Given the description of an element on the screen output the (x, y) to click on. 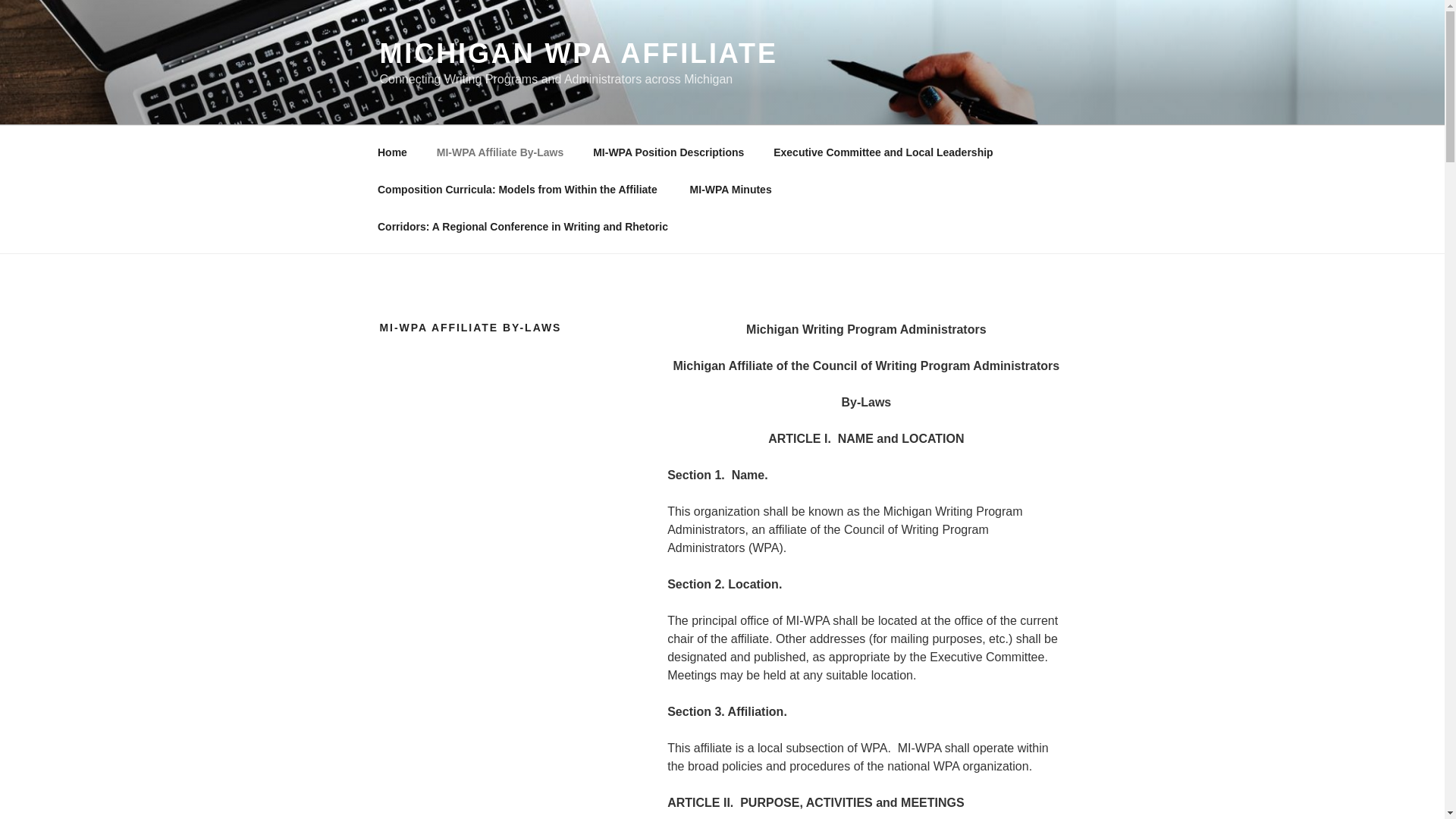
Corridors: A Regional Conference in Writing and Rhetoric (522, 226)
MICHIGAN WPA AFFILIATE (577, 52)
MI-WPA Minutes (730, 189)
MI-WPA Position Descriptions (668, 151)
Composition Curricula: Models from Within the Affiliate  (518, 189)
MI-WPA Affiliate By-Laws (499, 151)
Executive Committee and Local Leadership (883, 151)
Home (392, 151)
